Given the description of an element on the screen output the (x, y) to click on. 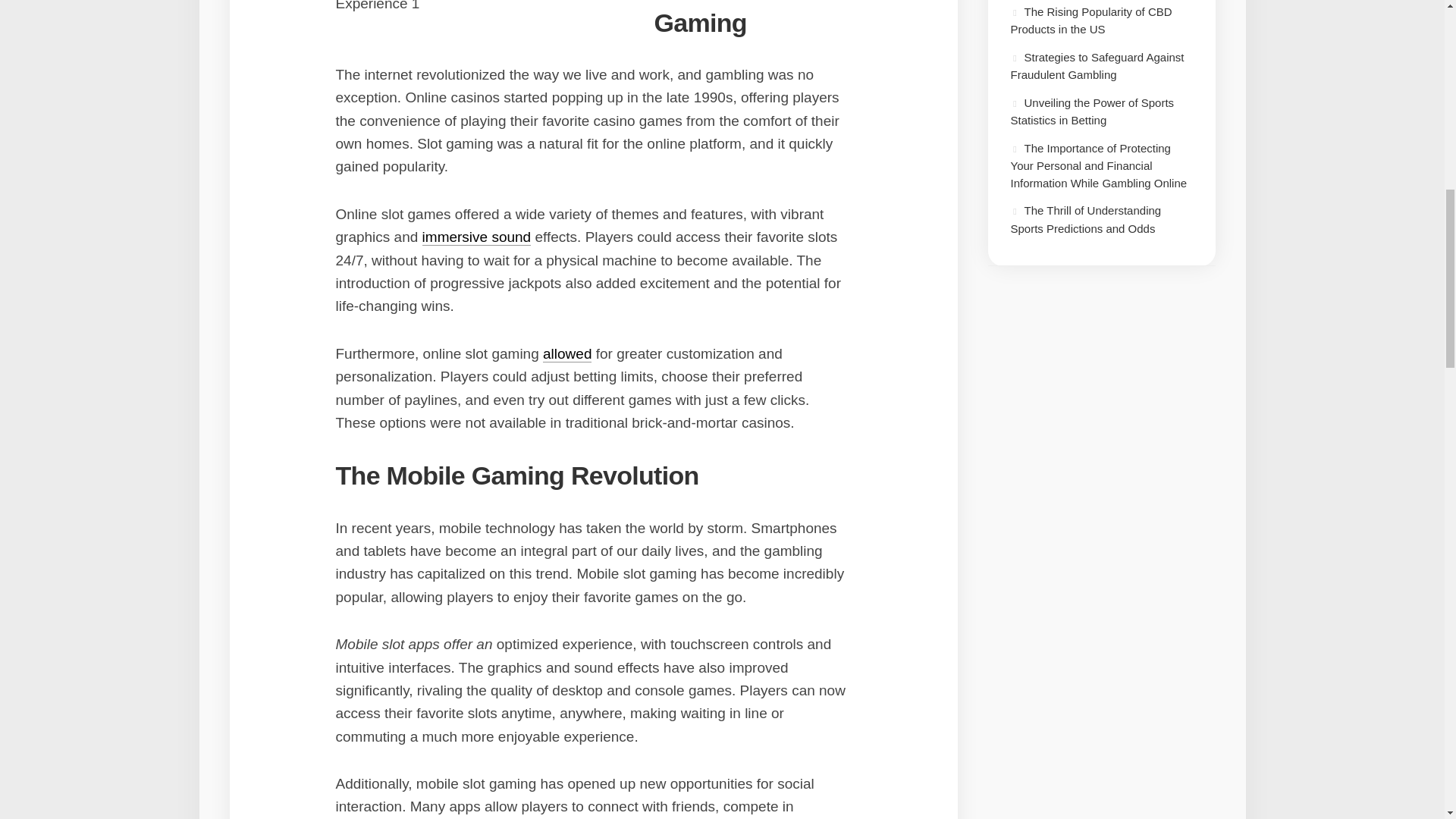
Strategies to Safeguard Against Fraudulent Gambling (1096, 65)
The Thrill of Understanding Sports Predictions and Odds (1085, 219)
The Rising Popularity of CBD Products in the US (1091, 20)
allowed (567, 353)
immersive sound (476, 236)
Unveiling the Power of Sports Statistics in Betting (1091, 110)
